Given the description of an element on the screen output the (x, y) to click on. 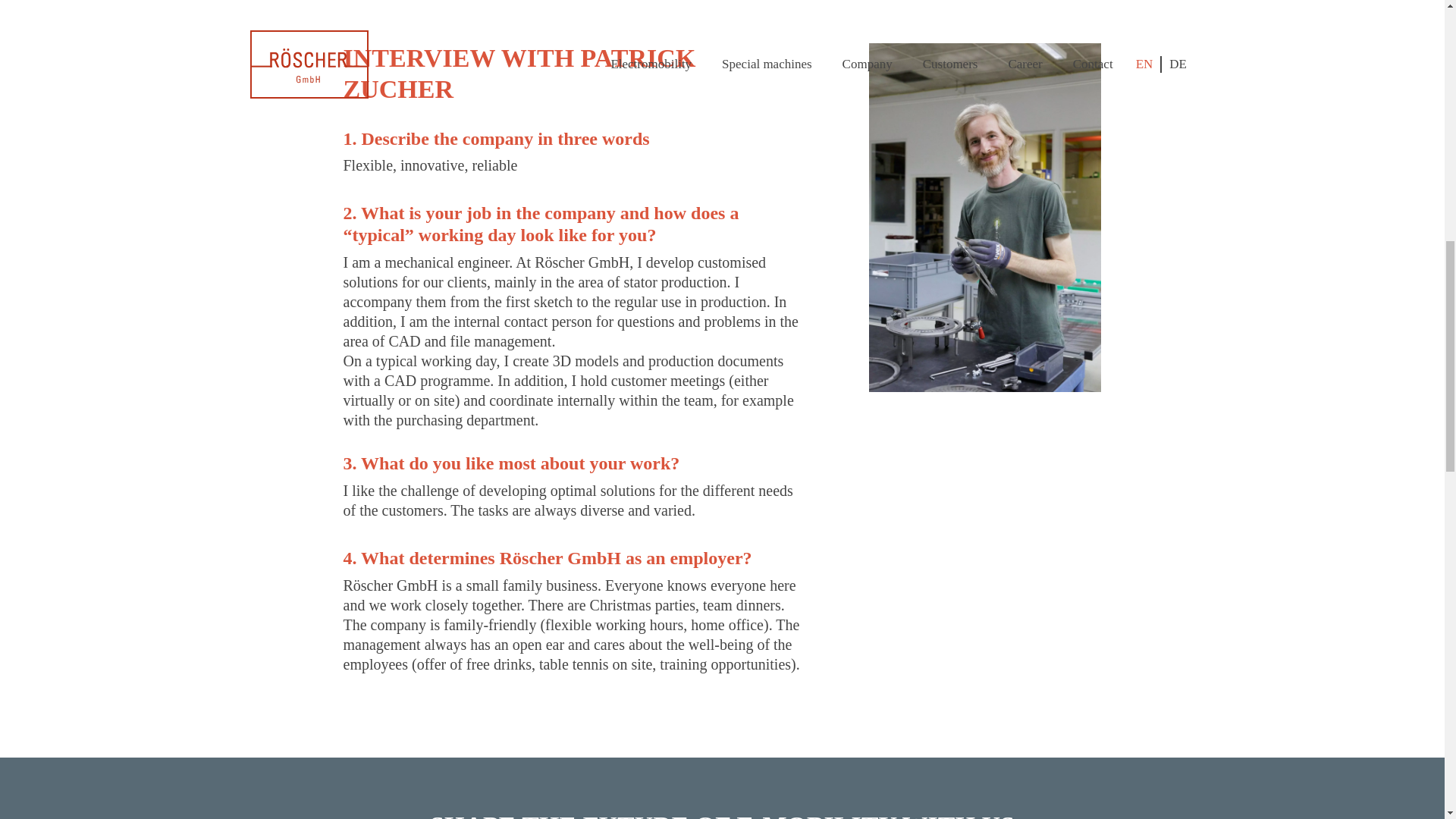
Back (366, 10)
